Given the description of an element on the screen output the (x, y) to click on. 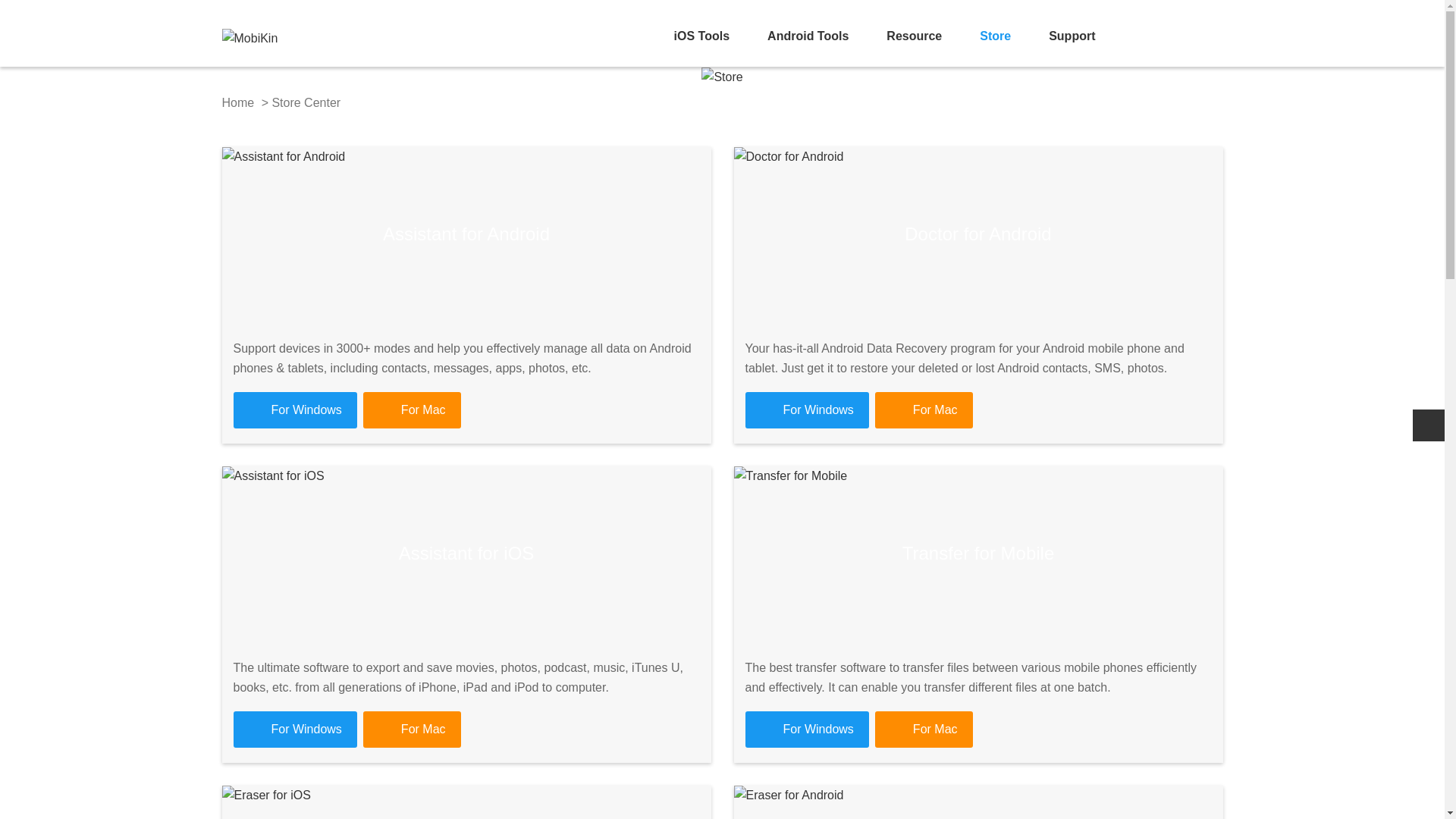
Home (249, 31)
Android Tools (808, 36)
For Mac (923, 410)
Assistant for Android (465, 233)
For Windows (294, 729)
For Mac (411, 410)
Doctor for Android (978, 233)
Home (237, 102)
For Mac (411, 729)
For Windows (294, 410)
